Given the description of an element on the screen output the (x, y) to click on. 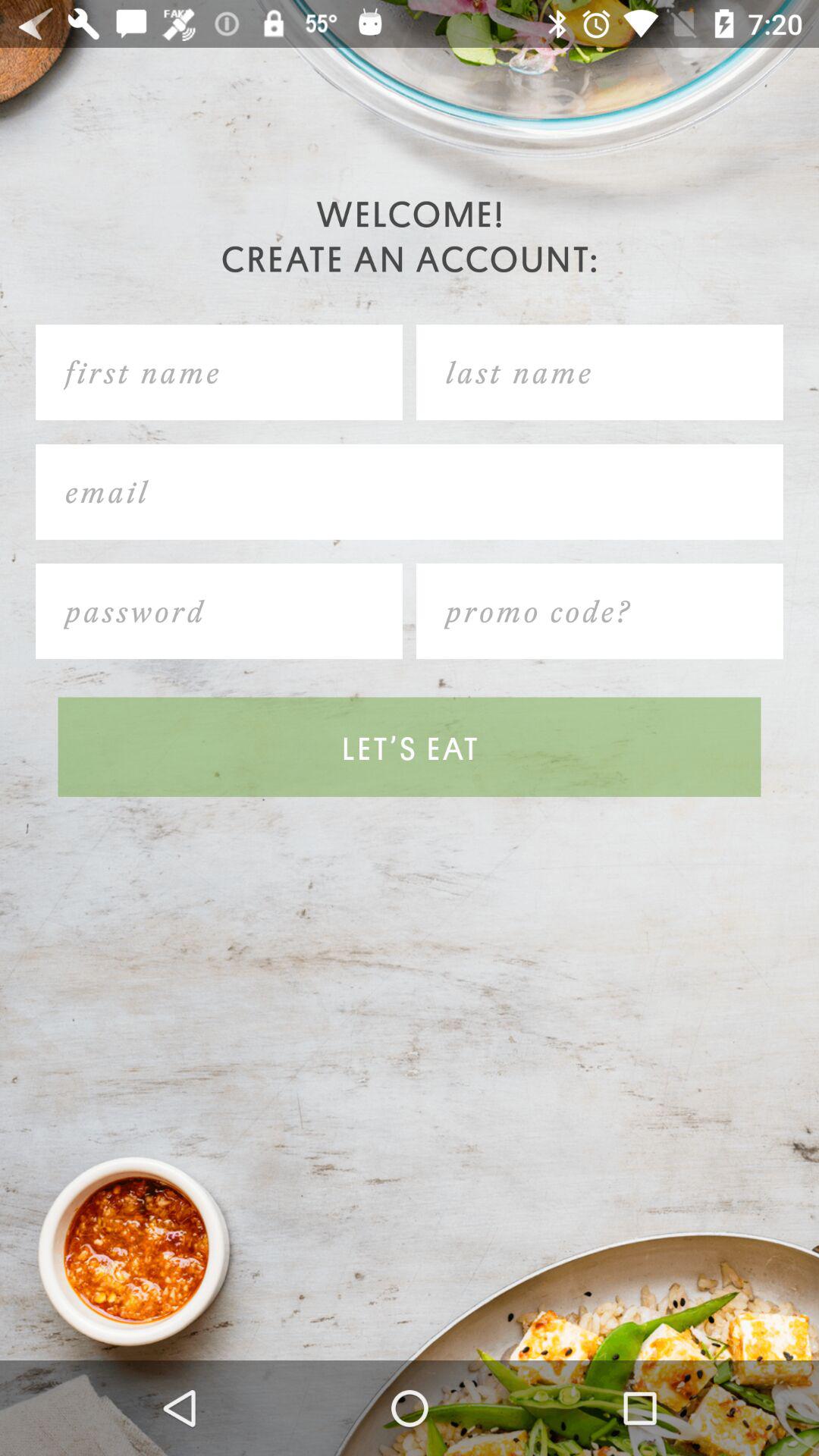
enter your lastname (599, 372)
